Given the description of an element on the screen output the (x, y) to click on. 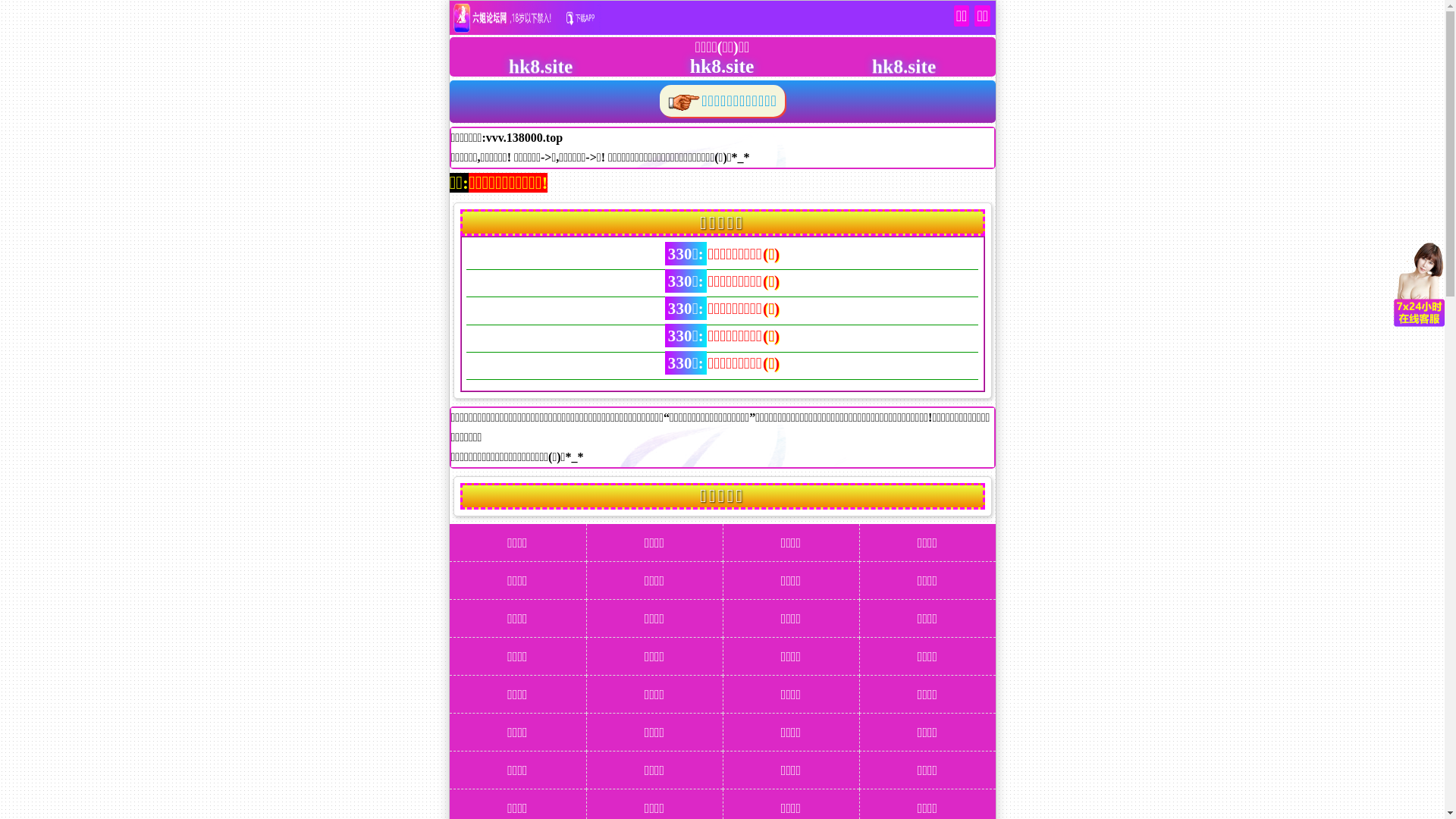
hk8.site Element type: text (706, 65)
hk8.site Element type: text (887, 65)
hk8.site Element type: text (524, 65)
